Given the description of an element on the screen output the (x, y) to click on. 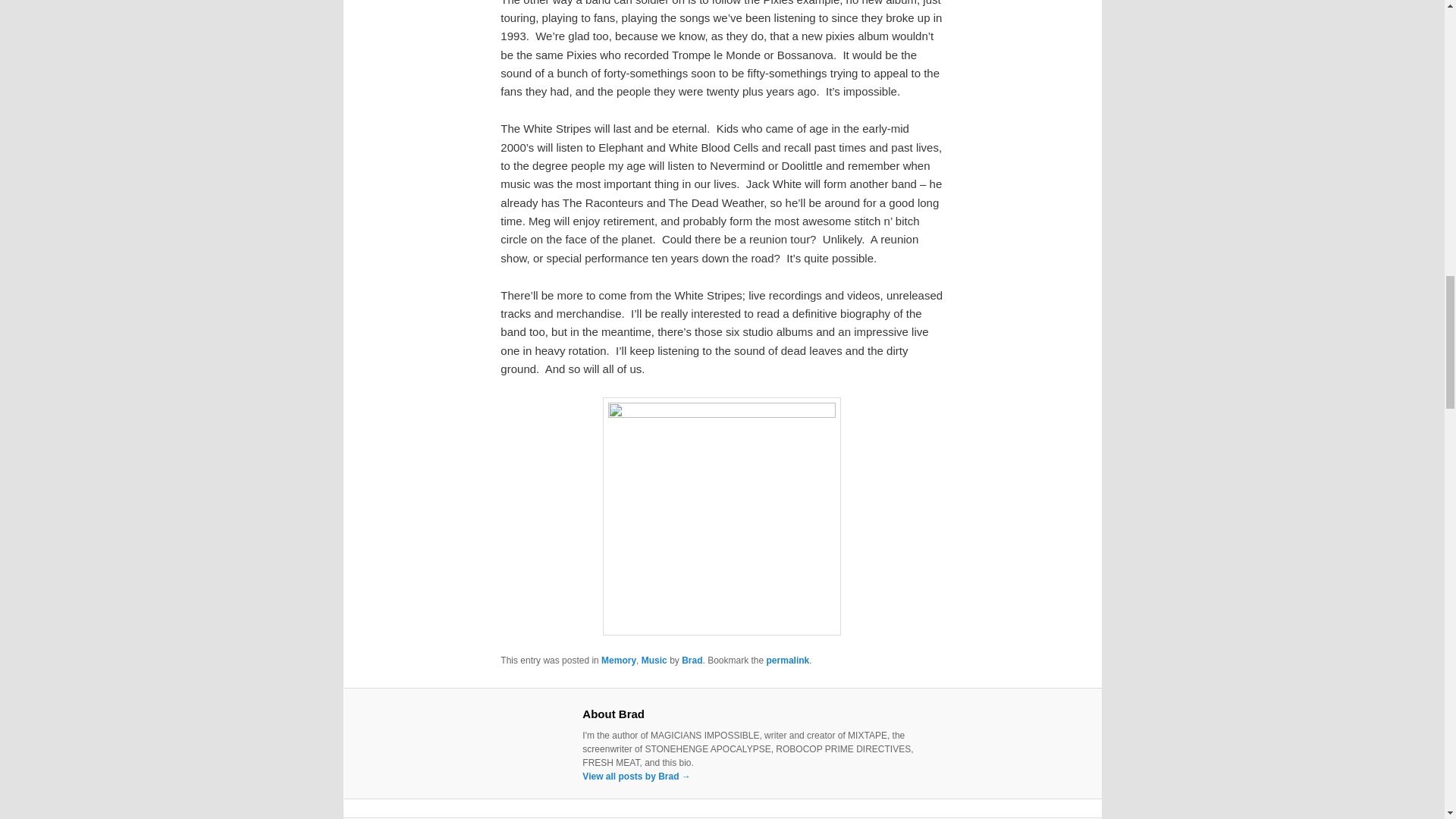
Permalink to Sugar Never Tasted So Good (788, 660)
permalink (788, 660)
Music (654, 660)
Memory (618, 660)
Brad (691, 660)
